Given the description of an element on the screen output the (x, y) to click on. 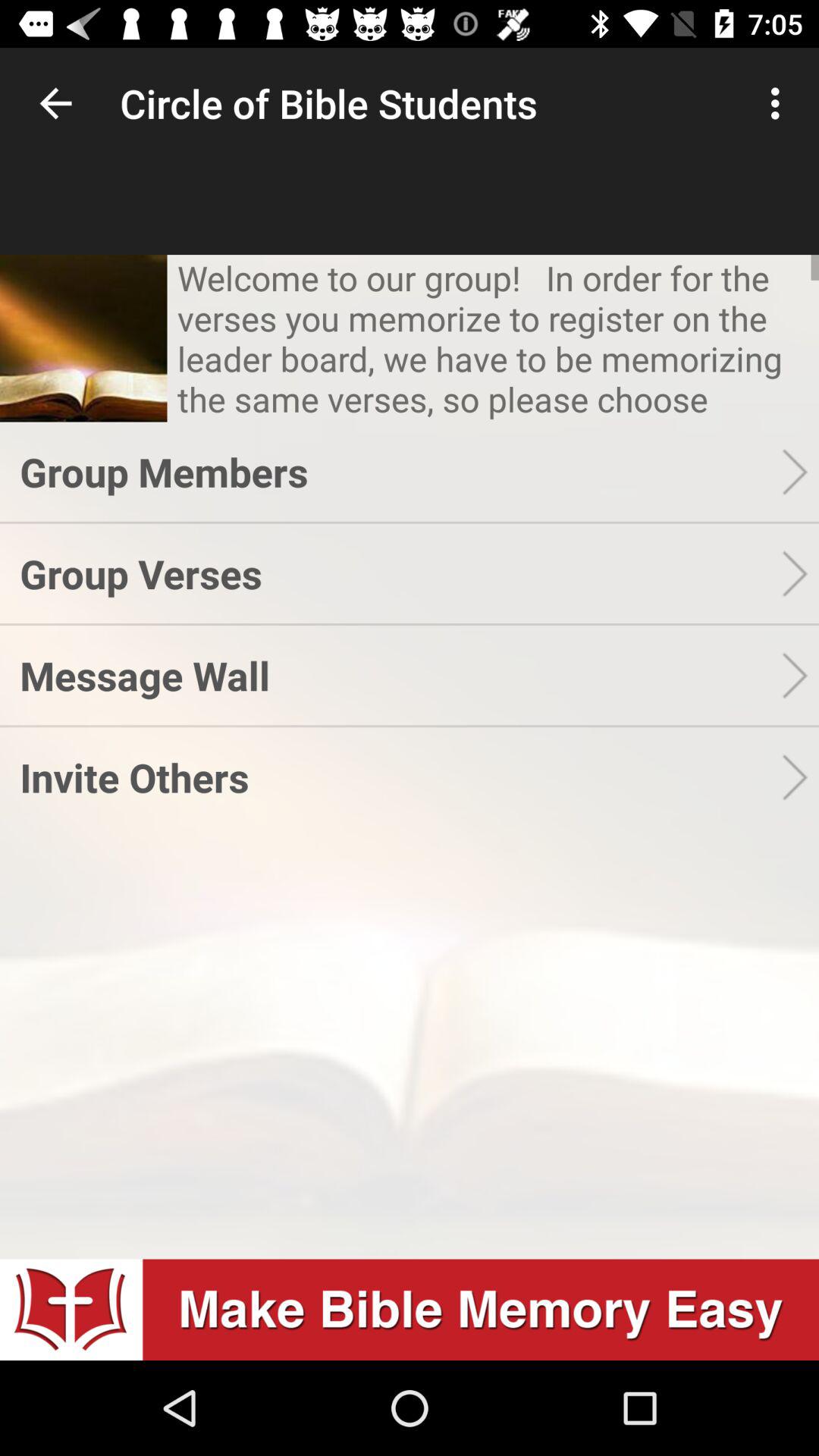
swipe to the invite others app (399, 776)
